Given the description of an element on the screen output the (x, y) to click on. 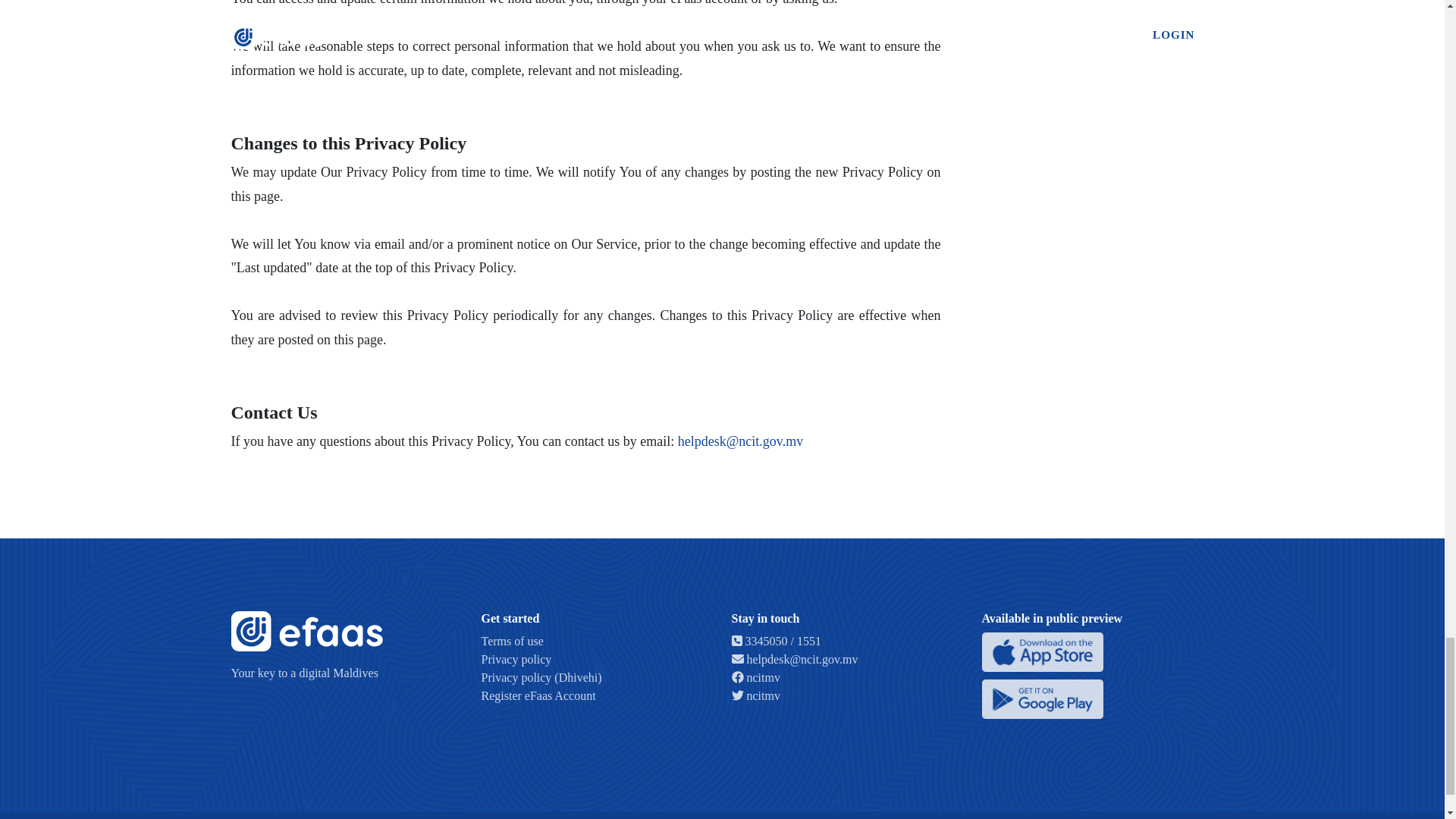
Terms of use (511, 640)
Privacy policy (515, 658)
Register eFaas Account (537, 695)
ncitmv (754, 695)
ncitmv (754, 676)
